Given the description of an element on the screen output the (x, y) to click on. 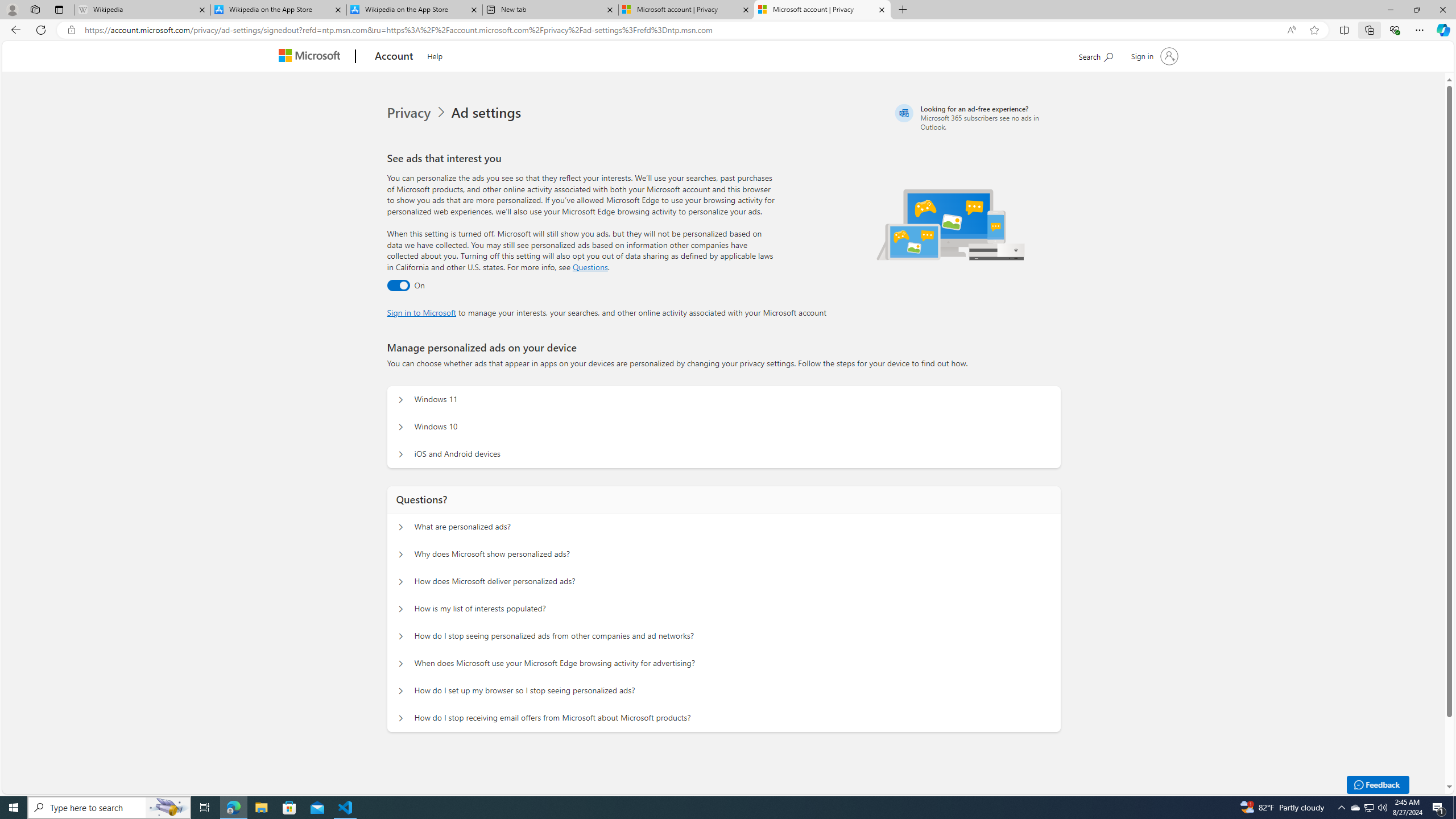
Questions? How is my list of interests populated? (401, 608)
Illustration of multiple devices (951, 224)
Sign in to your account (1153, 55)
